Given the description of an element on the screen output the (x, y) to click on. 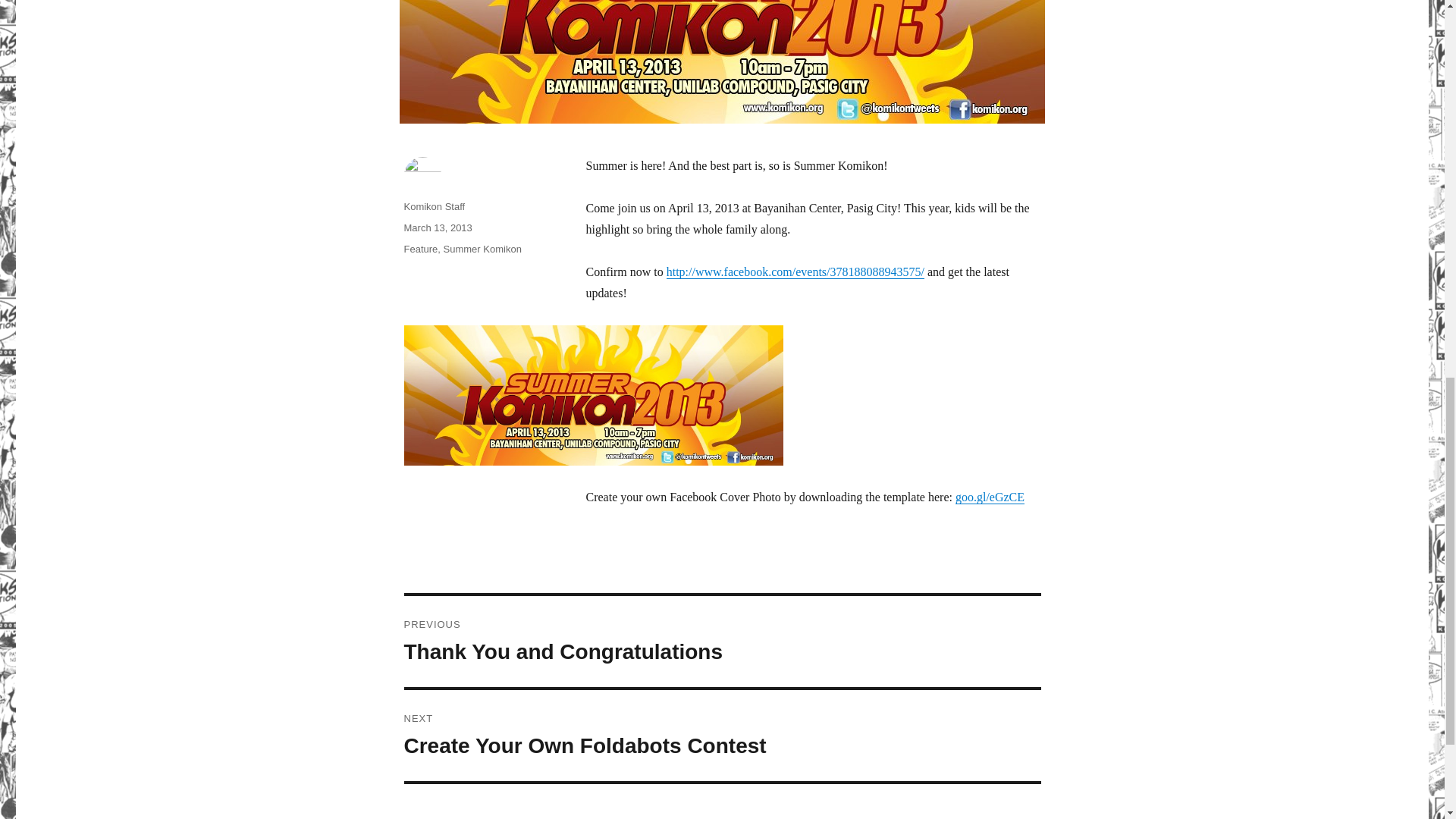
March 13, 2013 (722, 641)
Summer Komikon 2013 Official Banner (437, 227)
Komikon Staff (593, 395)
Summer Komikon (433, 206)
Feature (482, 248)
